Given the description of an element on the screen output the (x, y) to click on. 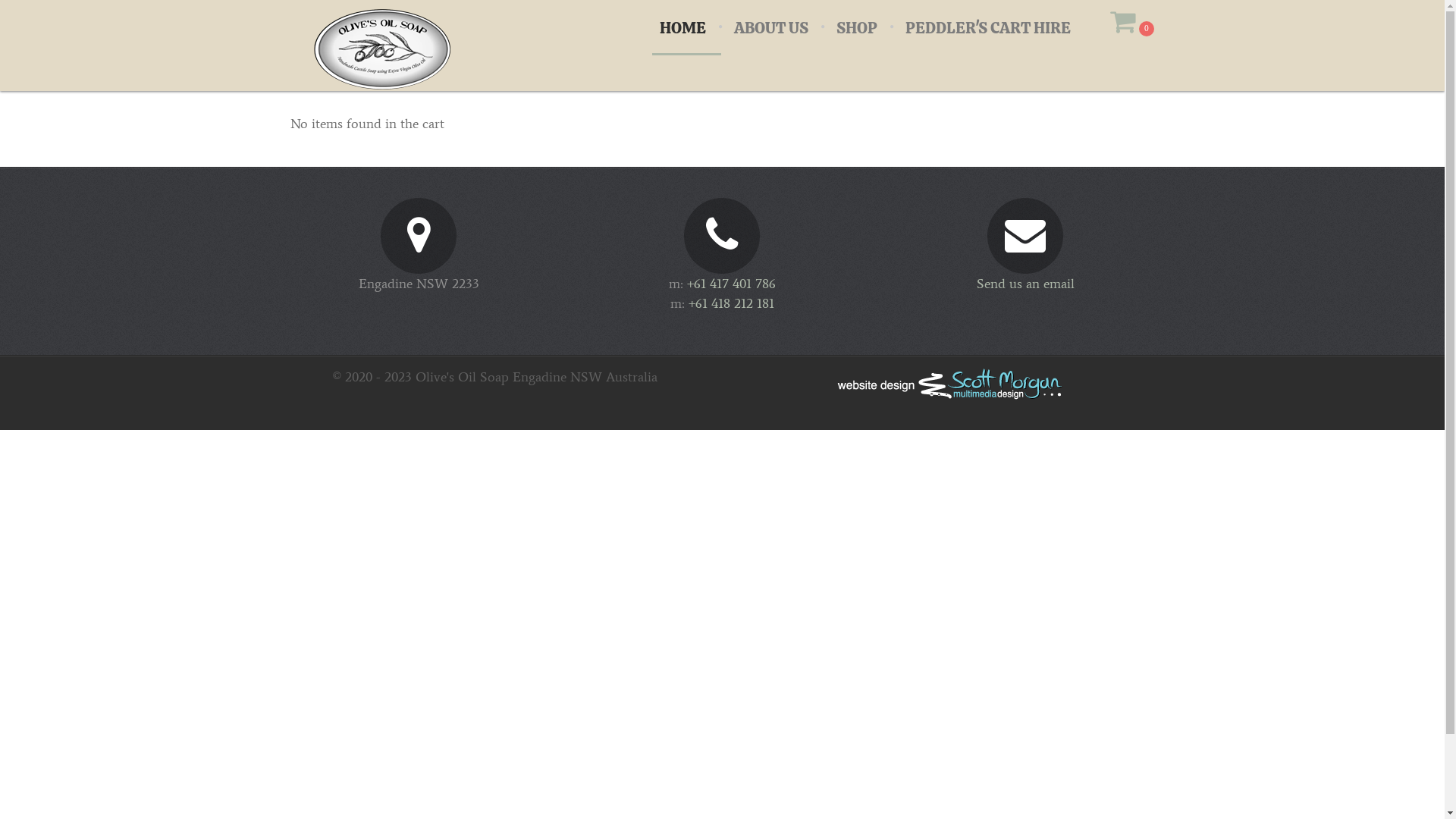
+61 418 212 181 Element type: text (731, 302)
+61 417 401 786 Element type: text (731, 283)
Send us an email Element type: text (1025, 283)
ABOUT US Element type: text (770, 27)
HOME Element type: text (681, 27)
0 Element type: text (1132, 26)
PEDDLER'S CART HIRE Element type: text (987, 27)
SHOP Element type: text (856, 27)
